Given the description of an element on the screen output the (x, y) to click on. 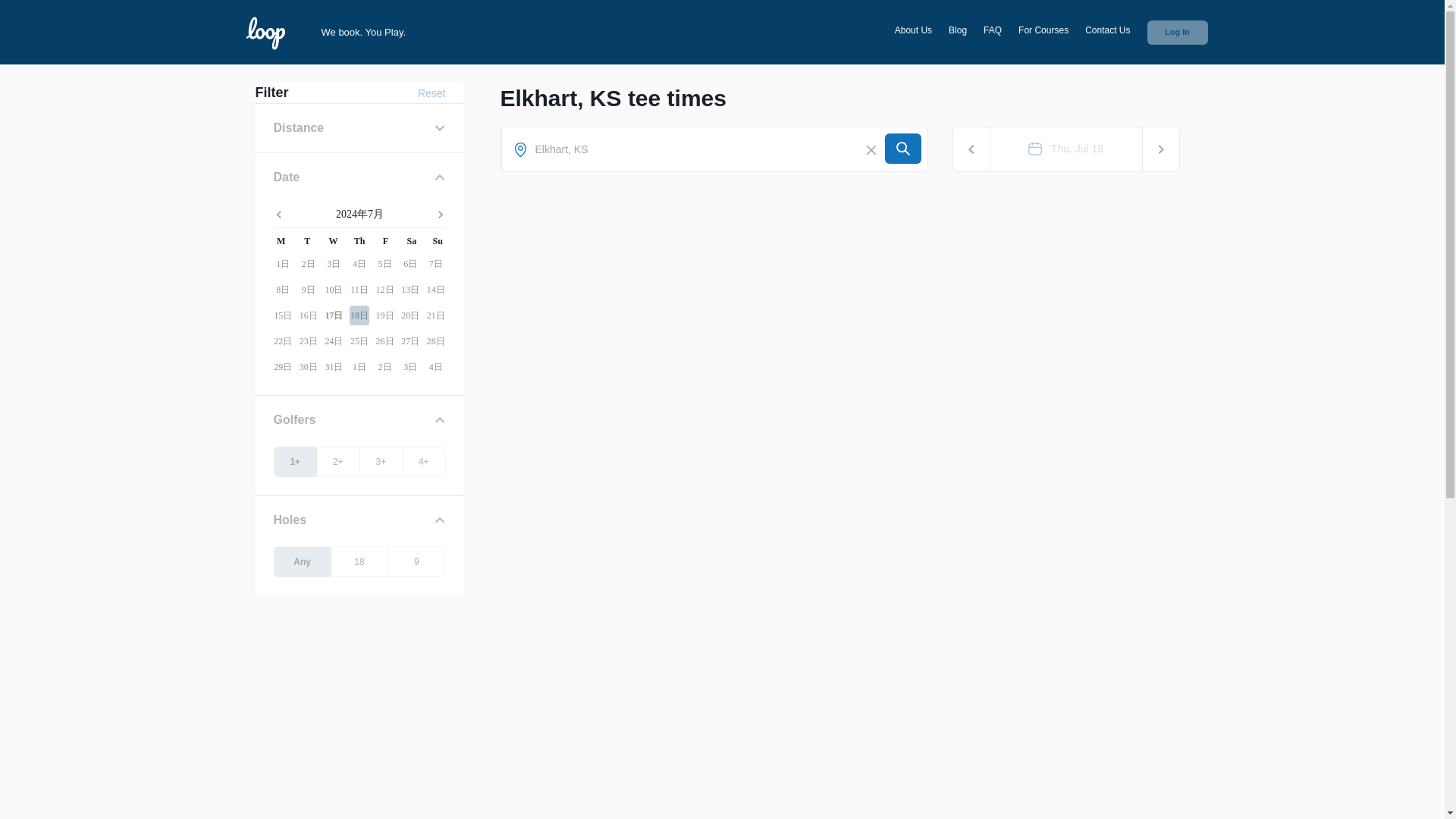
Reset (431, 92)
FAQ (992, 31)
Date (348, 176)
Elkhart, KS (696, 149)
Distance (348, 127)
About Us (913, 31)
Blog (957, 31)
Log In (1177, 31)
Contact Us (1106, 31)
For Courses (1042, 31)
